Given the description of an element on the screen output the (x, y) to click on. 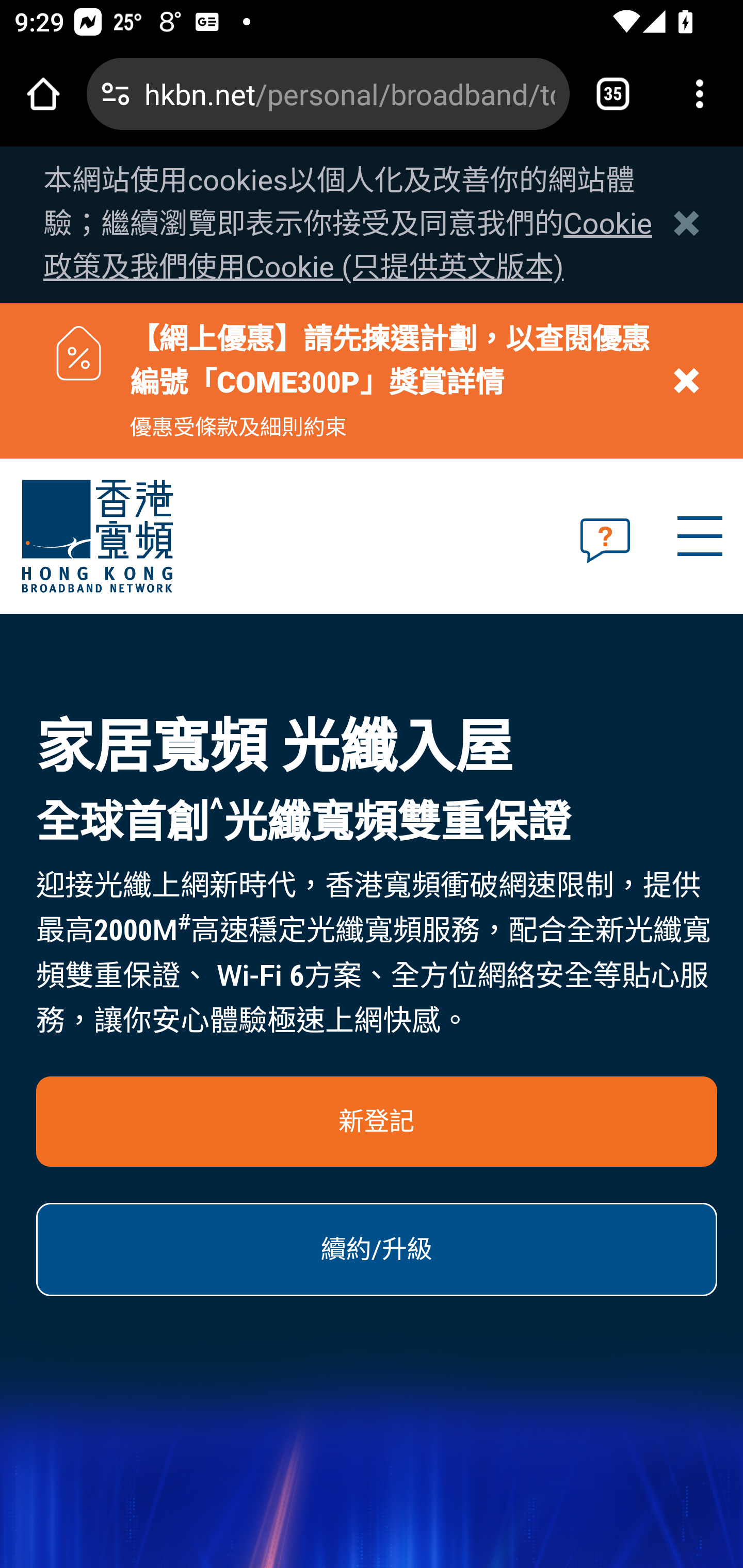
Open the home page (43, 93)
Connection is secure (115, 93)
Switch or close tabs (612, 93)
Customize and control Google Chrome (699, 93)
Cookie政策及我們使用Cookie (只提供英文版本) (348, 245)
www.hkbn (149, 536)
Toggle navigation (699, 536)
新登記 (377, 1121)
續約/升級 (377, 1249)
